Given the description of an element on the screen output the (x, y) to click on. 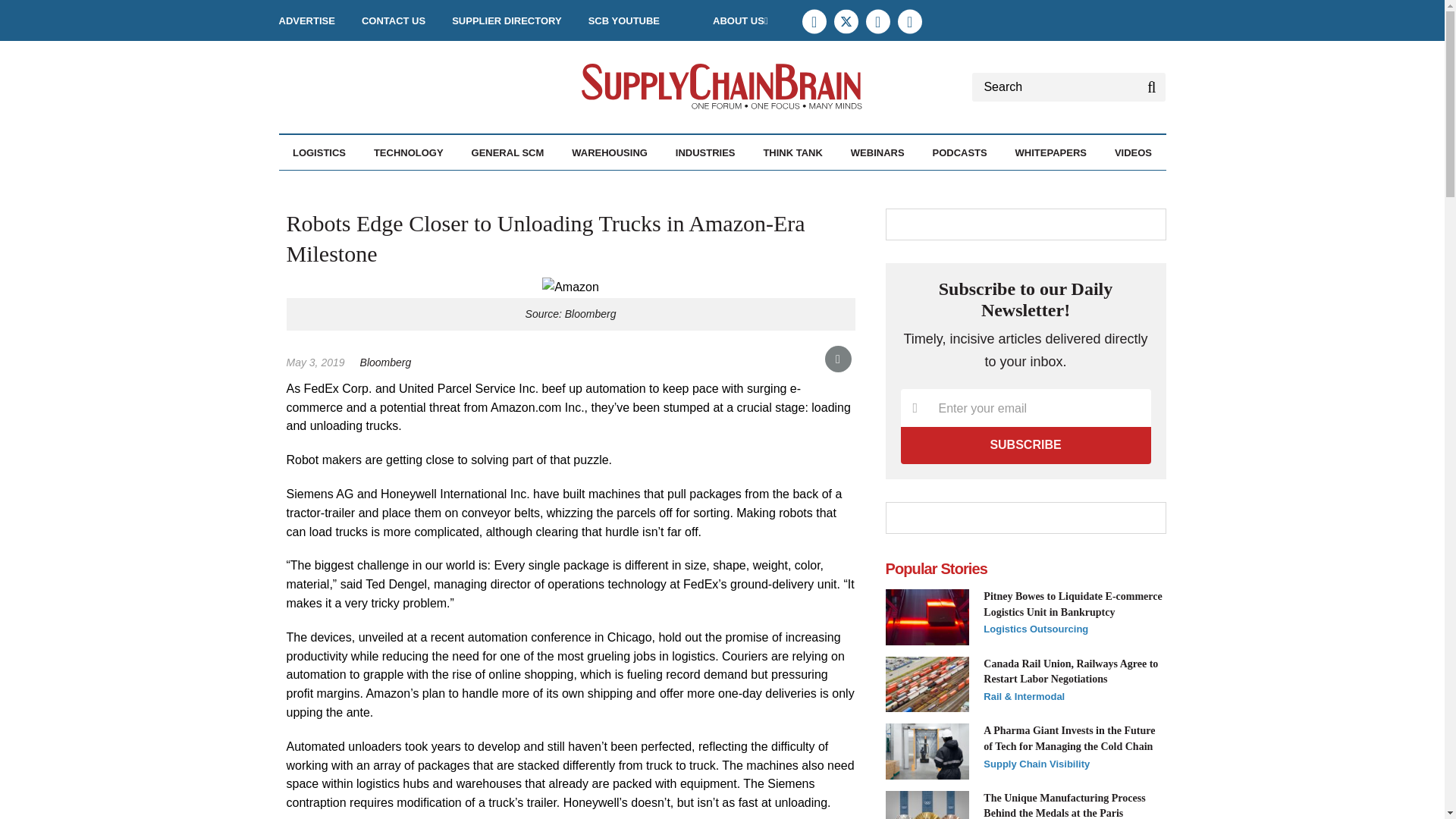
Logistics Outsourcing (404, 184)
Global Logistics (398, 184)
LOGISTICS (319, 152)
Air Cargo (368, 184)
Facility Location Planning (381, 193)
Last Mile Delivery (401, 184)
CONTACT US (393, 20)
ABOUT US (740, 20)
Paris-Olympics-Medals-OK-TO-USE.jpg (927, 805)
